Given the description of an element on the screen output the (x, y) to click on. 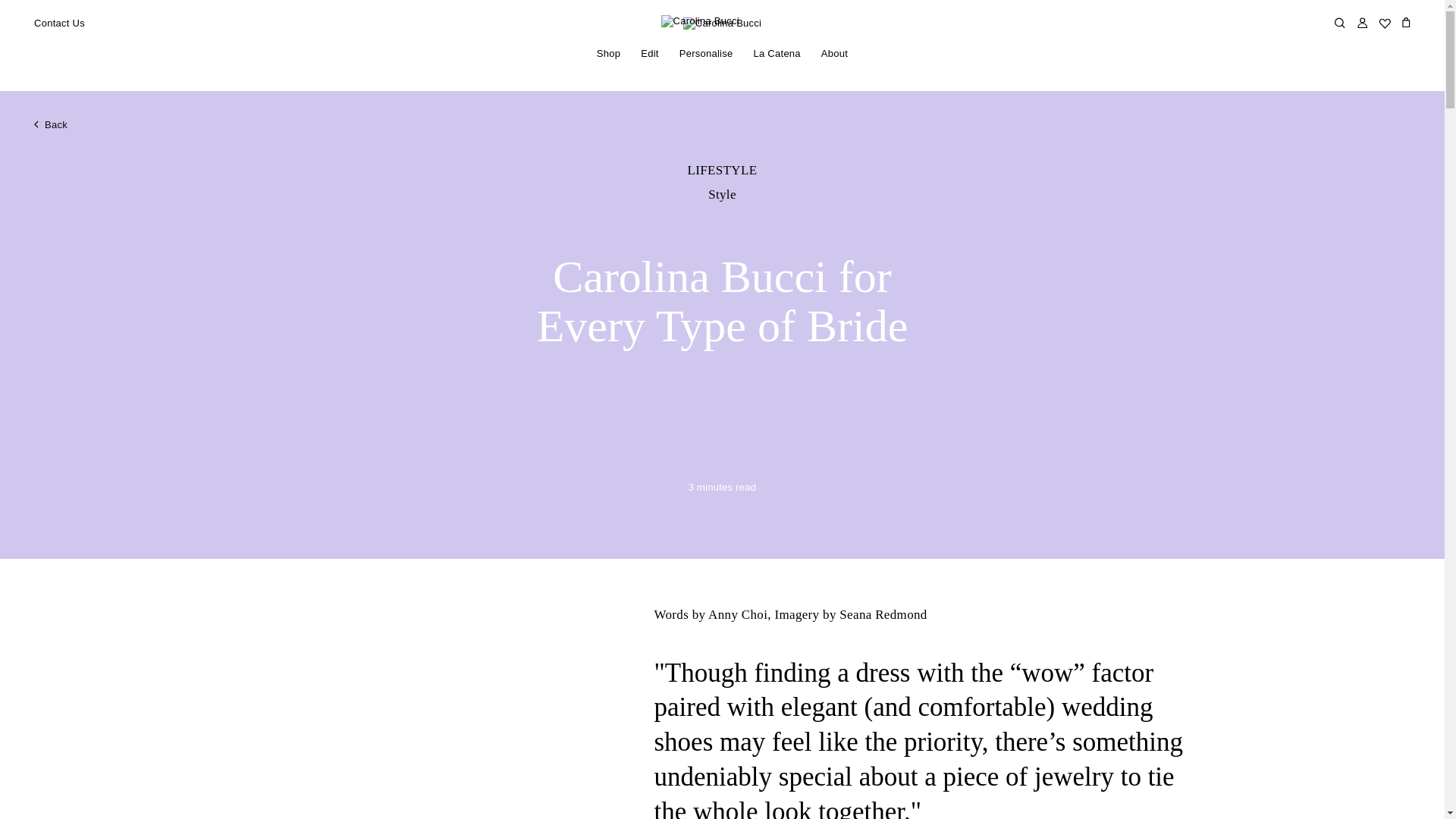
Edit (649, 53)
Contact Us (58, 23)
Personalise (705, 53)
La Catena (776, 53)
About (833, 53)
Shop (608, 53)
